Given the description of an element on the screen output the (x, y) to click on. 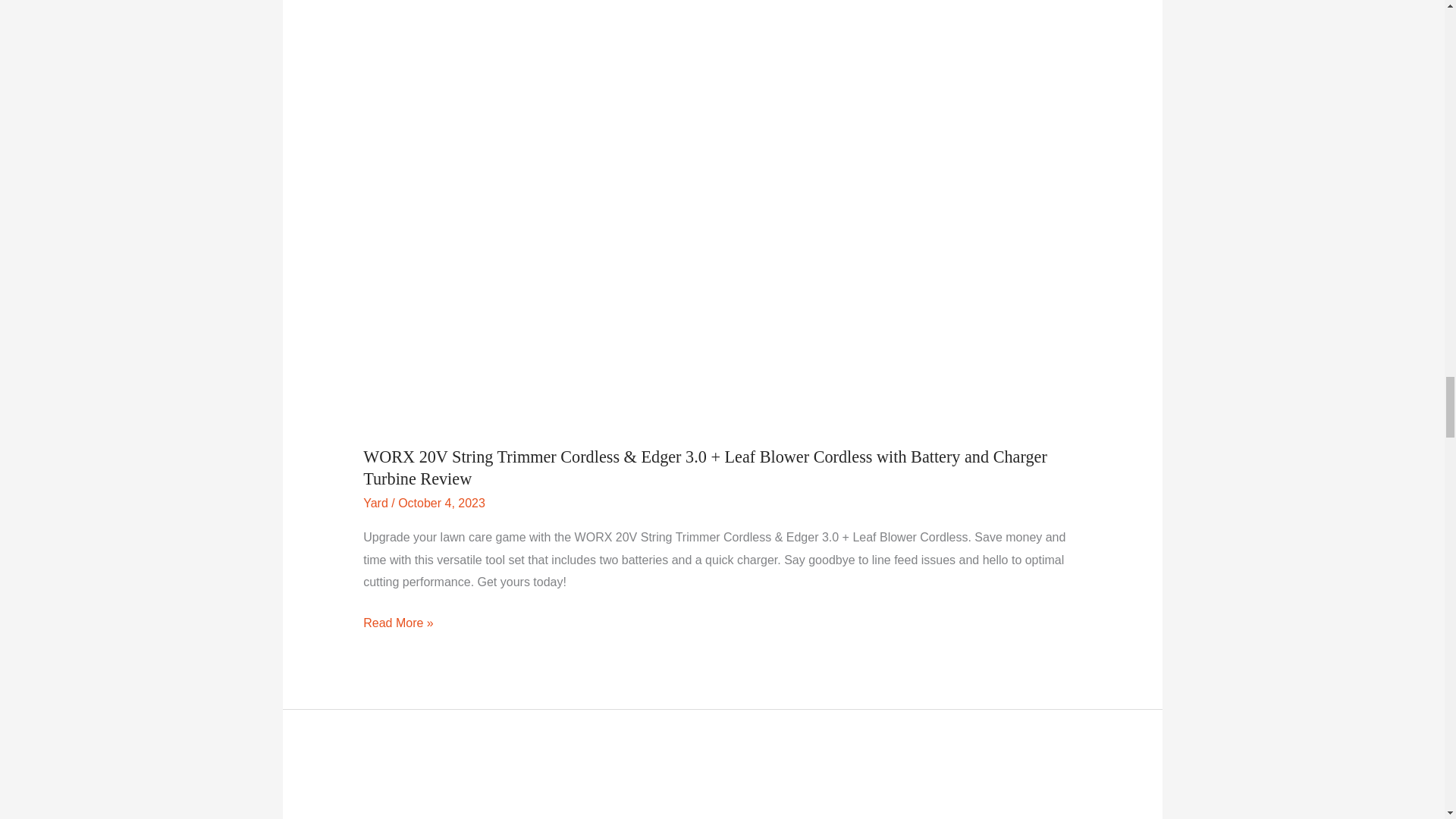
Yard (375, 502)
